Given the description of an element on the screen output the (x, y) to click on. 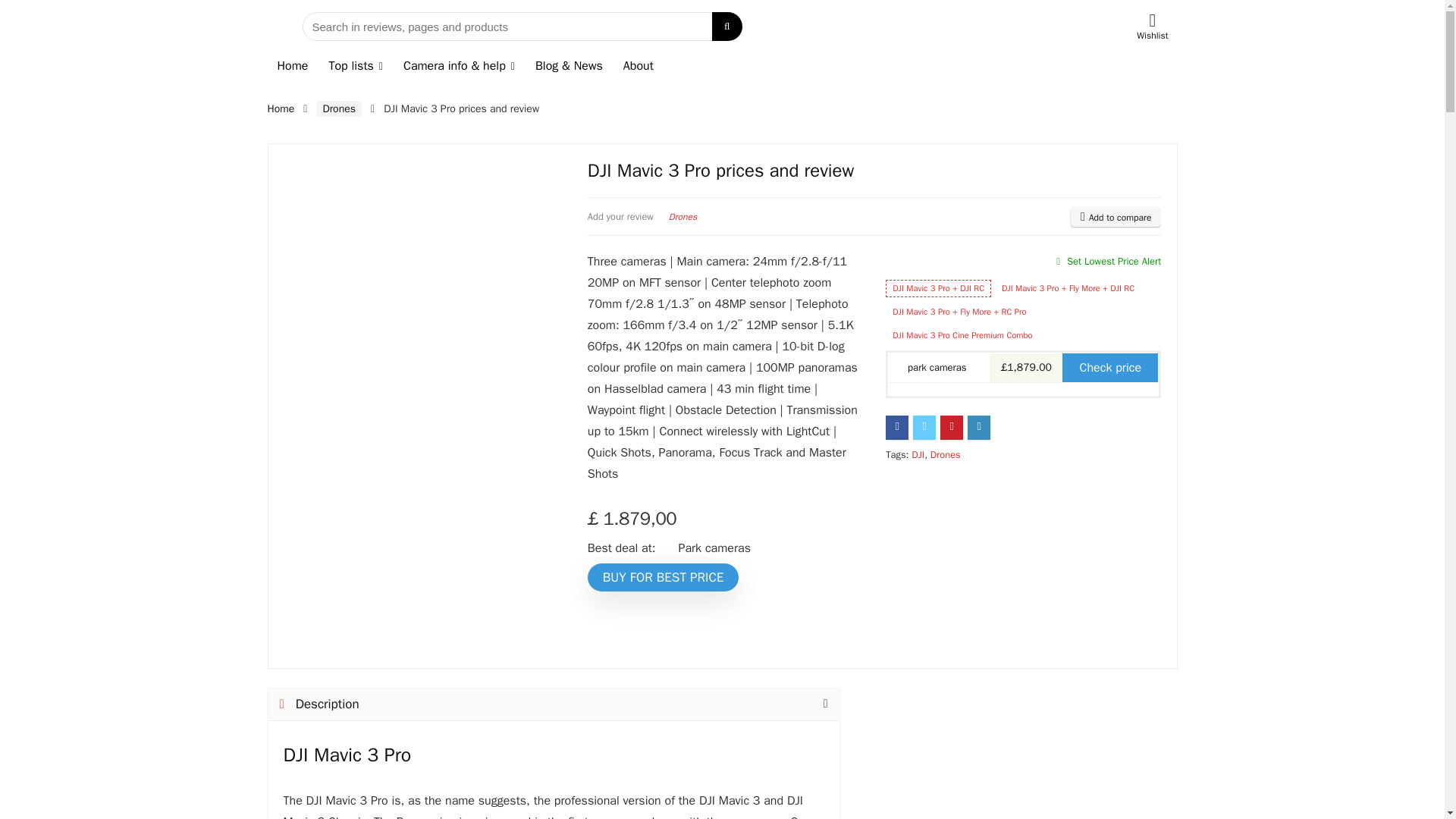
Home (291, 67)
Check price (1109, 367)
View all posts in Drones (682, 216)
Drones (682, 216)
BUY FOR BEST PRICE (663, 577)
About (637, 67)
Home (280, 108)
Top lists (355, 67)
Drones (338, 108)
DJI Mavic 3 Pro Cine Premium Combo (962, 334)
